Given the description of an element on the screen output the (x, y) to click on. 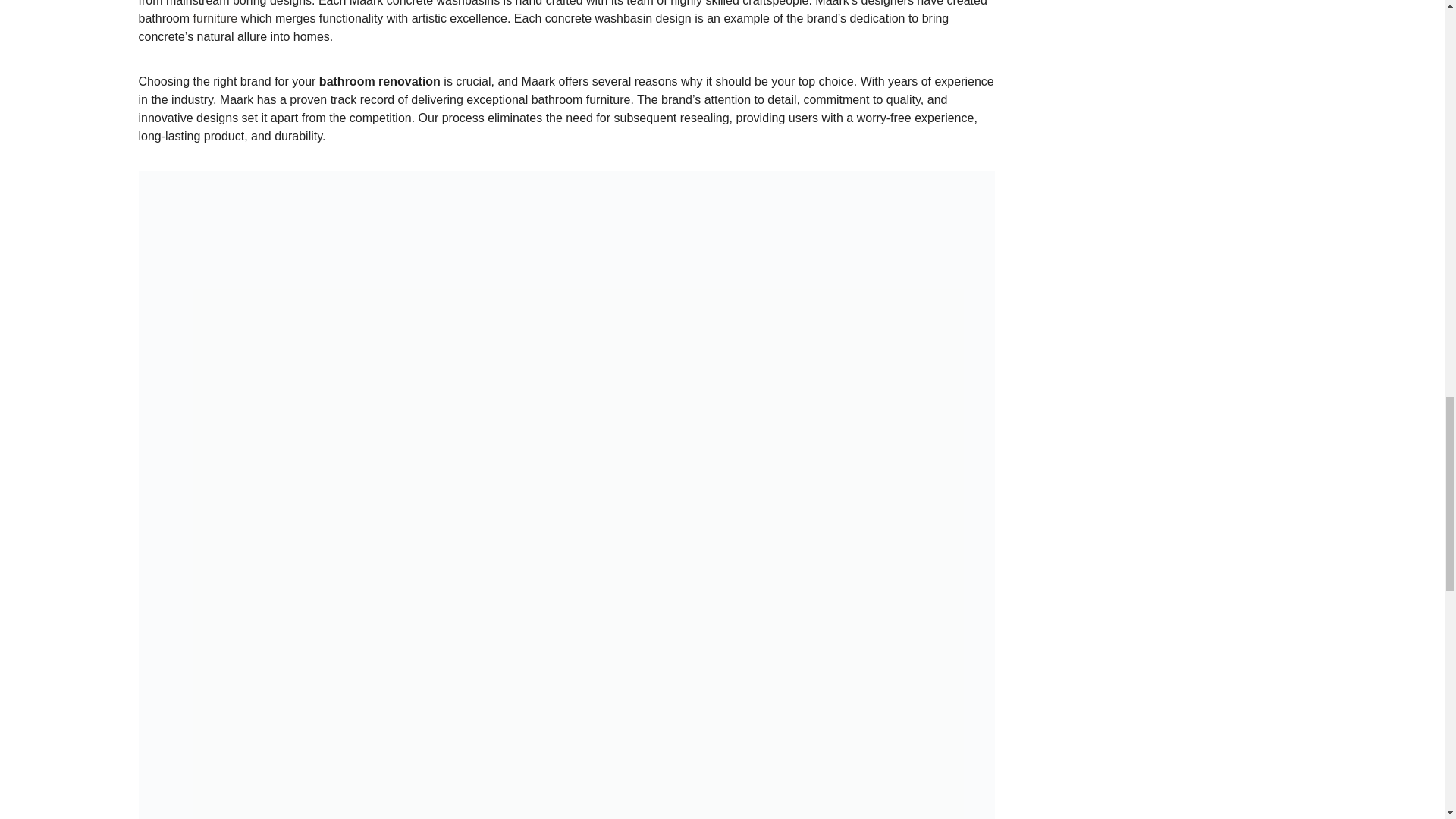
furniture (215, 18)
